Given the description of an element on the screen output the (x, y) to click on. 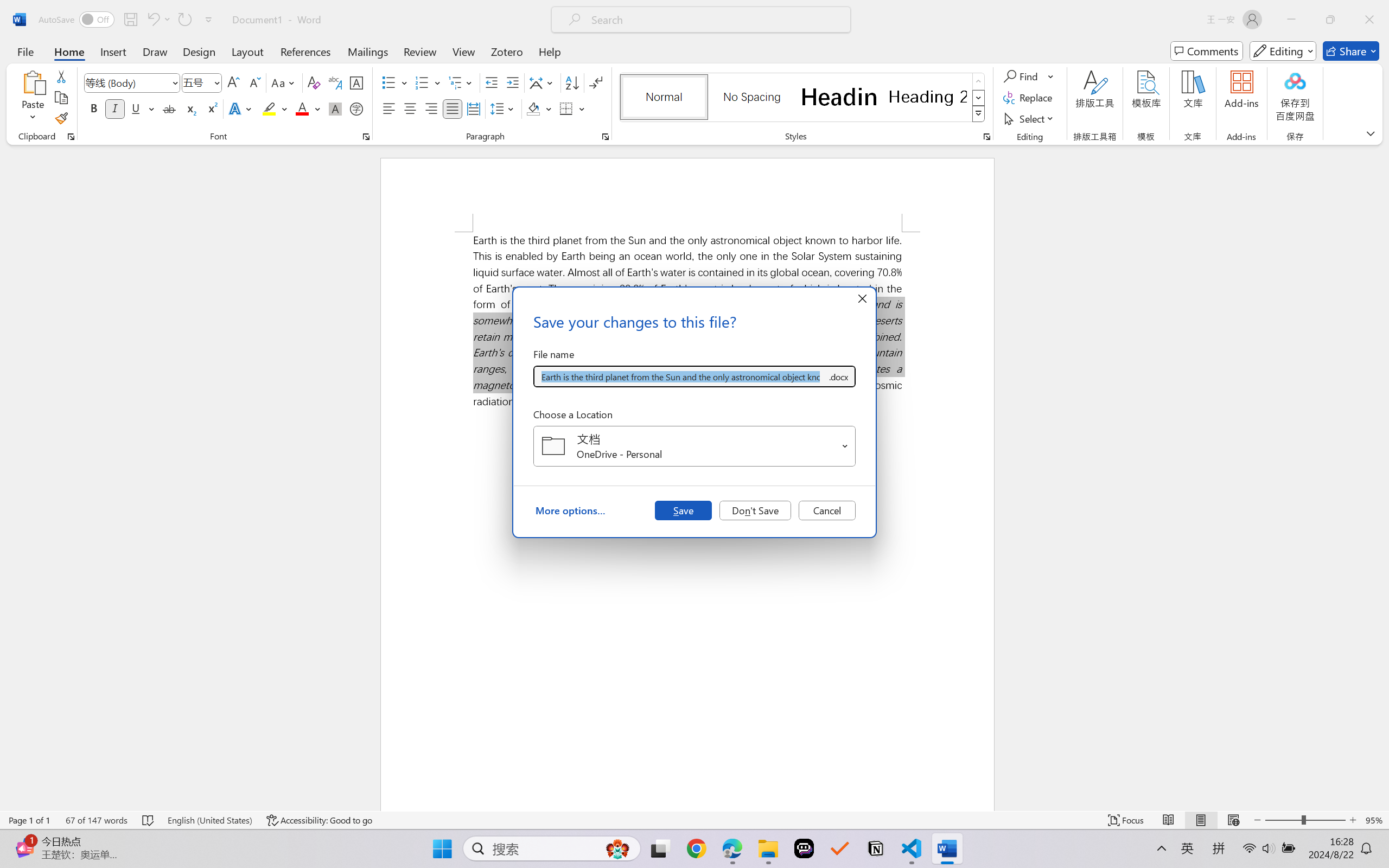
AutomationID: QuickStylesGallery (802, 97)
Microsoft search (715, 19)
Increase Indent (512, 82)
Paragraph... (605, 136)
Sort... (571, 82)
